Given the description of an element on the screen output the (x, y) to click on. 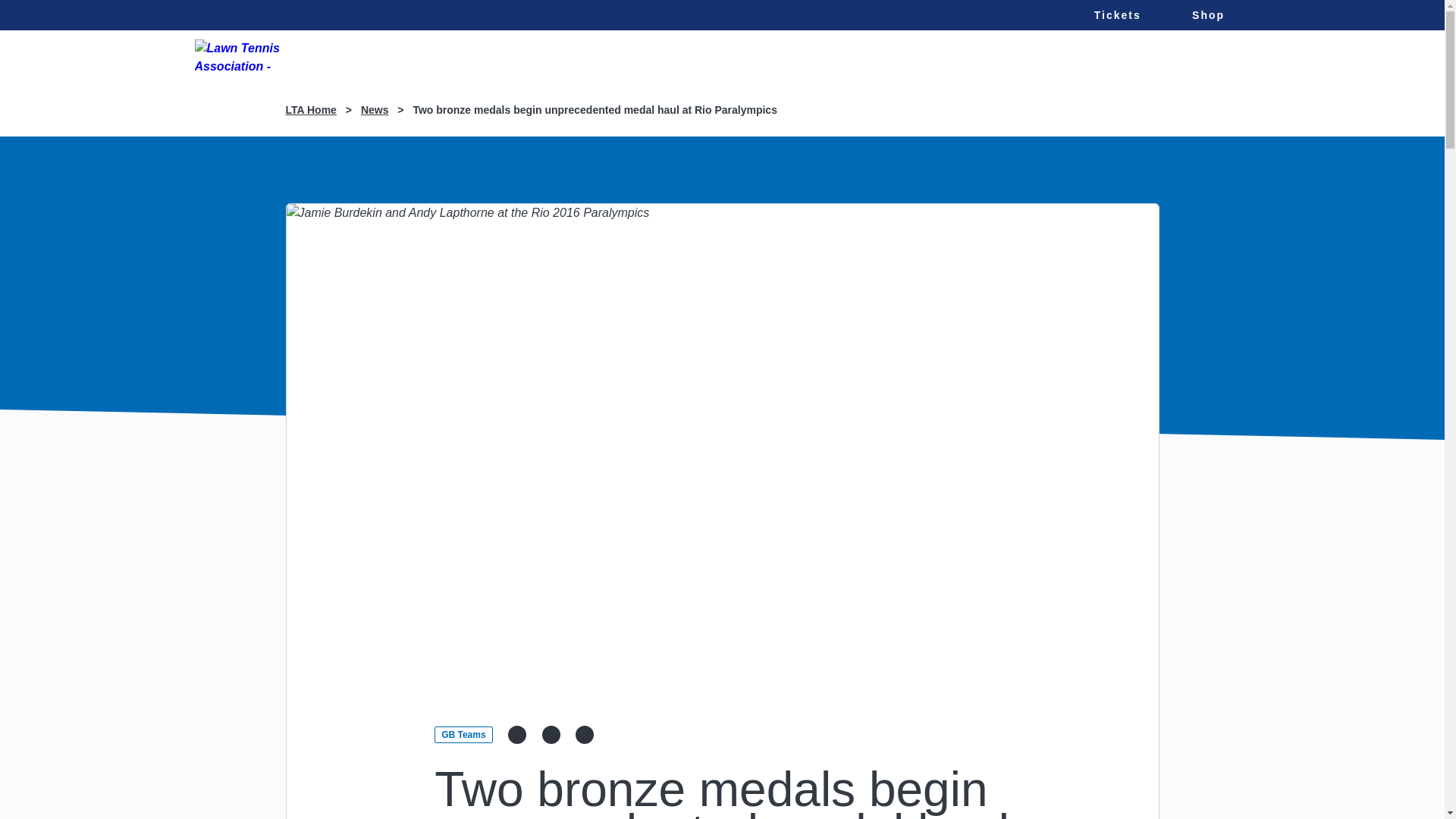
Tickets (1117, 14)
Shop (1207, 14)
